Given the description of an element on the screen output the (x, y) to click on. 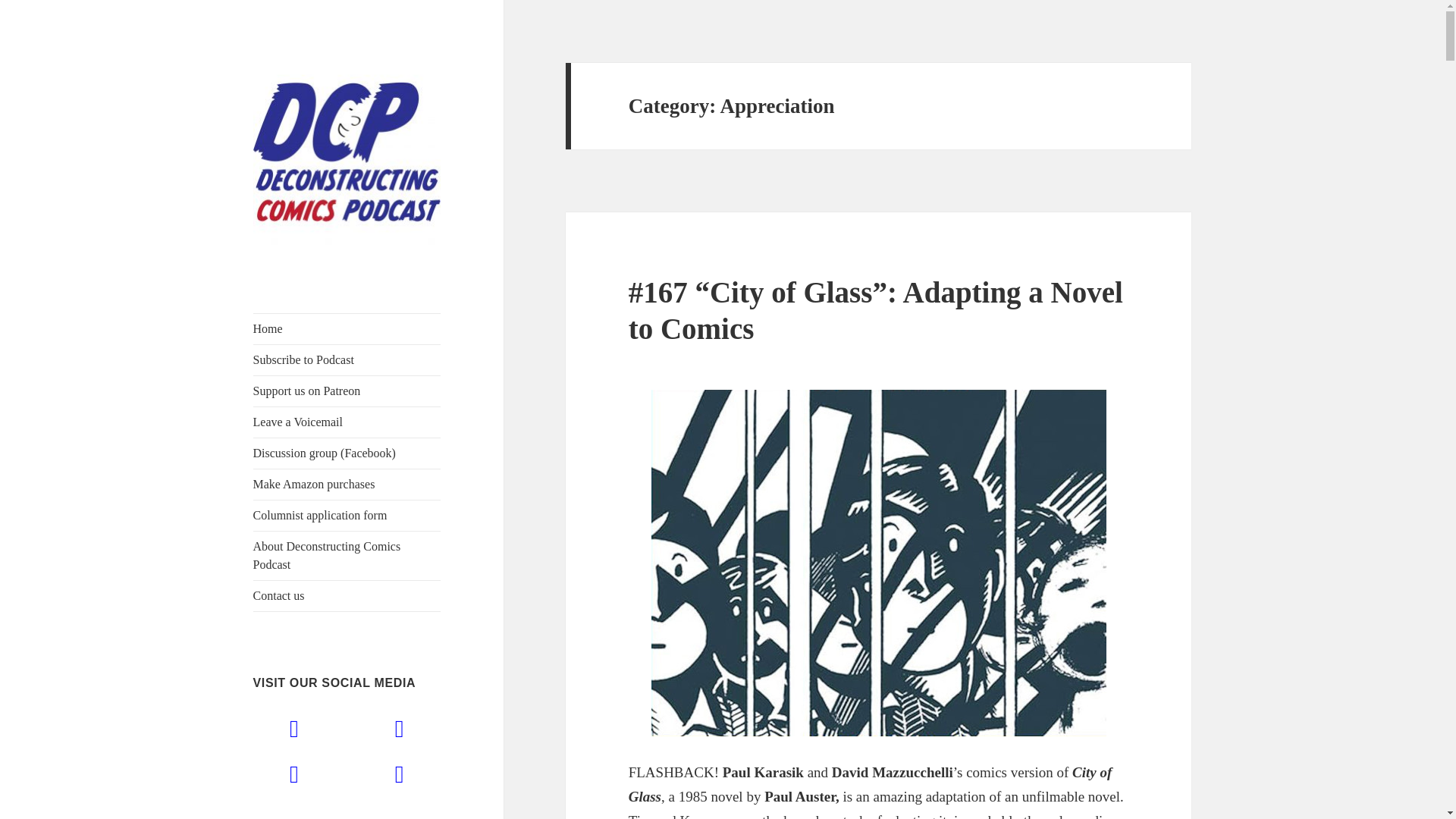
Subscribe to Podcast (347, 359)
Contact us (347, 595)
Columnist application form (347, 515)
About Deconstructing Comics Podcast (347, 555)
Make Amazon purchases (347, 484)
Leave a Voicemail (347, 422)
Deconstructing Comics (328, 286)
Home (347, 328)
Support us on Patreon (347, 390)
